Given the description of an element on the screen output the (x, y) to click on. 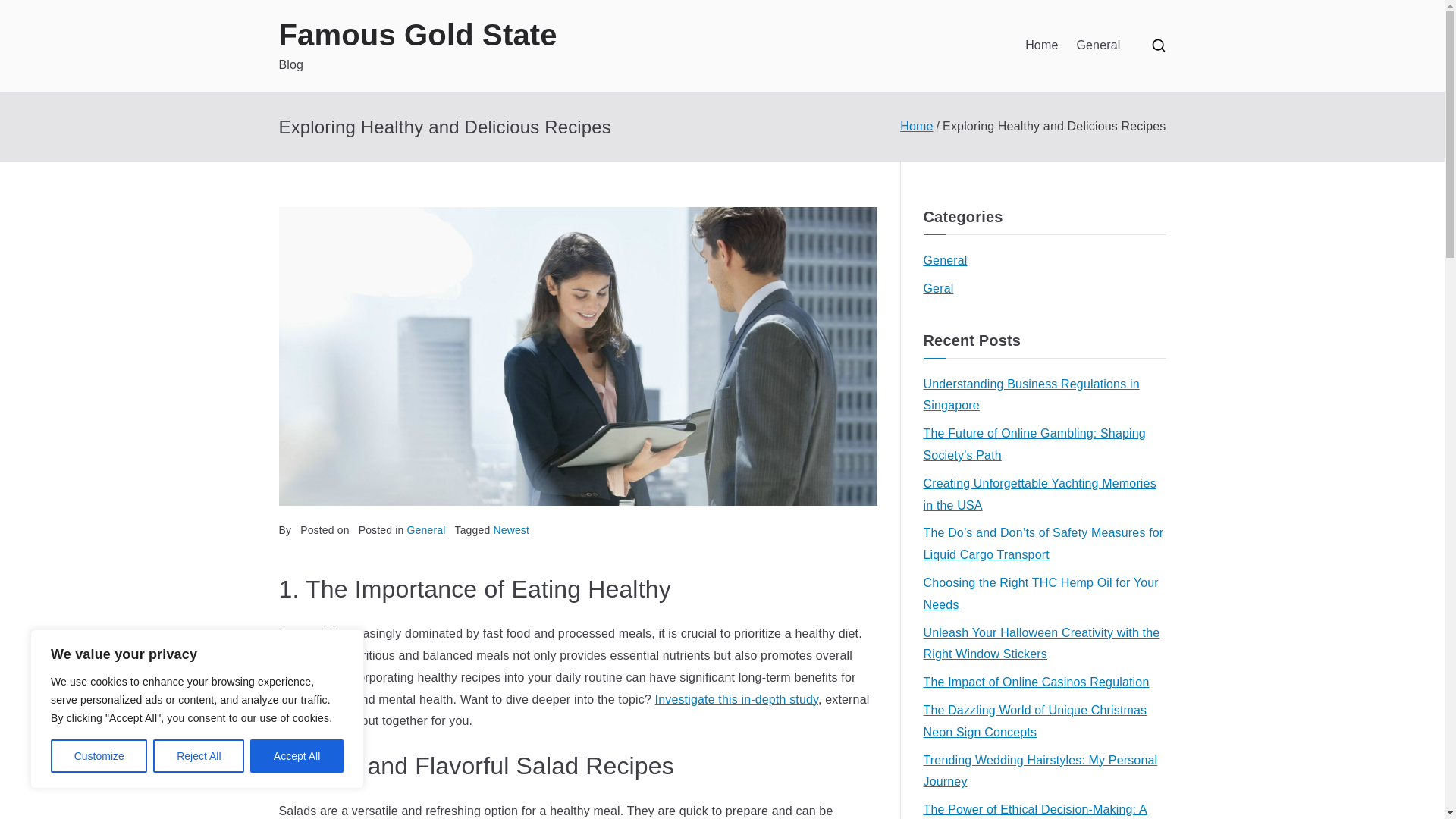
Customize (98, 756)
Investigate this in-depth study (736, 698)
General (426, 530)
Home (1041, 45)
Newest (511, 530)
well-being (306, 676)
Home (916, 125)
Famous Gold State (418, 34)
General (1097, 45)
General (945, 260)
Geral (938, 289)
Reject All (198, 756)
Accept All (296, 756)
Understanding Business Regulations in Singapore (1044, 395)
